Given the description of an element on the screen output the (x, y) to click on. 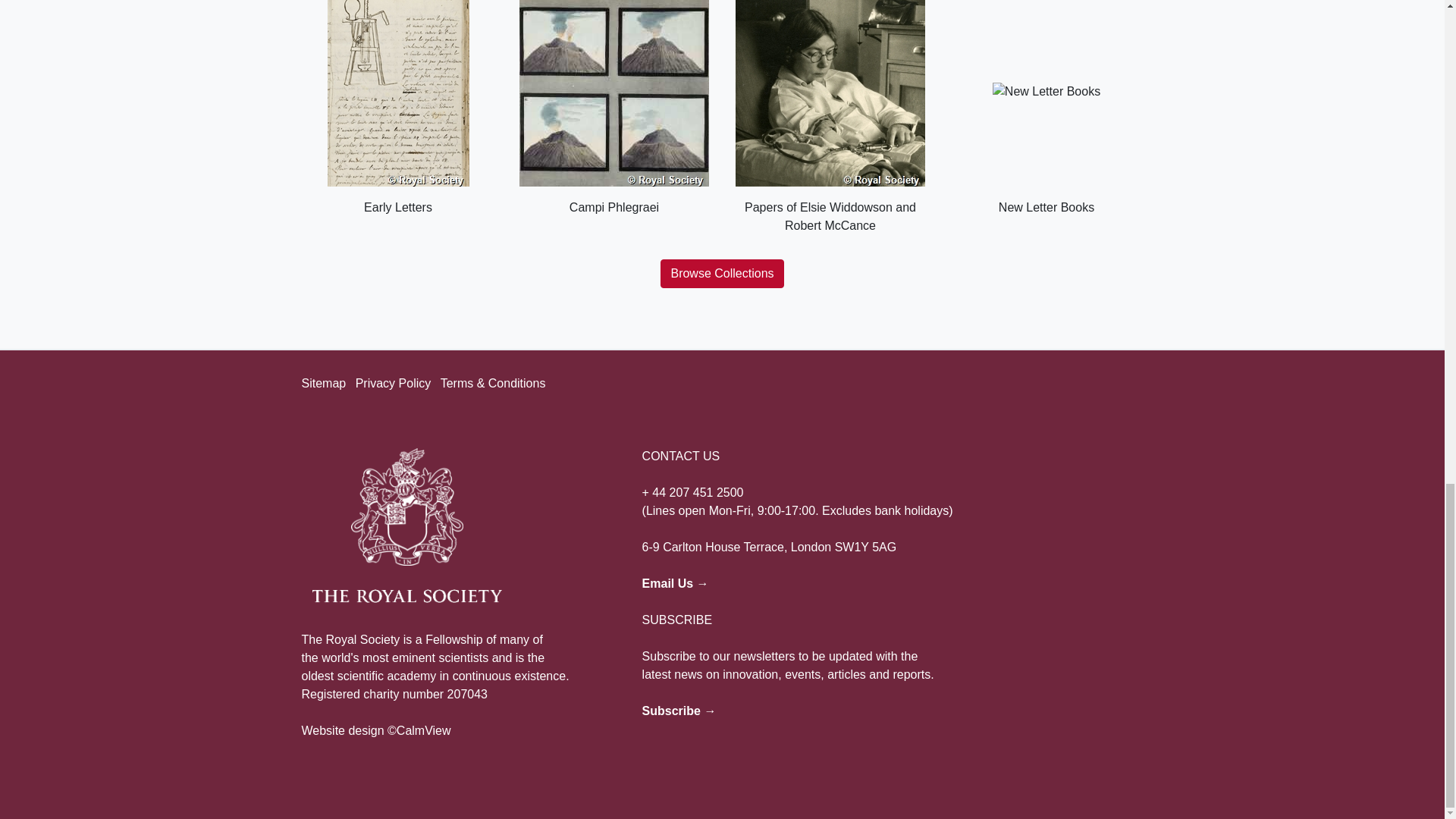
Campi Phlegraei (613, 108)
Privacy Policy (392, 382)
Sitemap (323, 382)
Browse Collections (722, 273)
Papers of Elsie Widdowson and Robert McCance (830, 117)
New Letter Books (1045, 108)
Early Letters (398, 108)
